Given the description of an element on the screen output the (x, y) to click on. 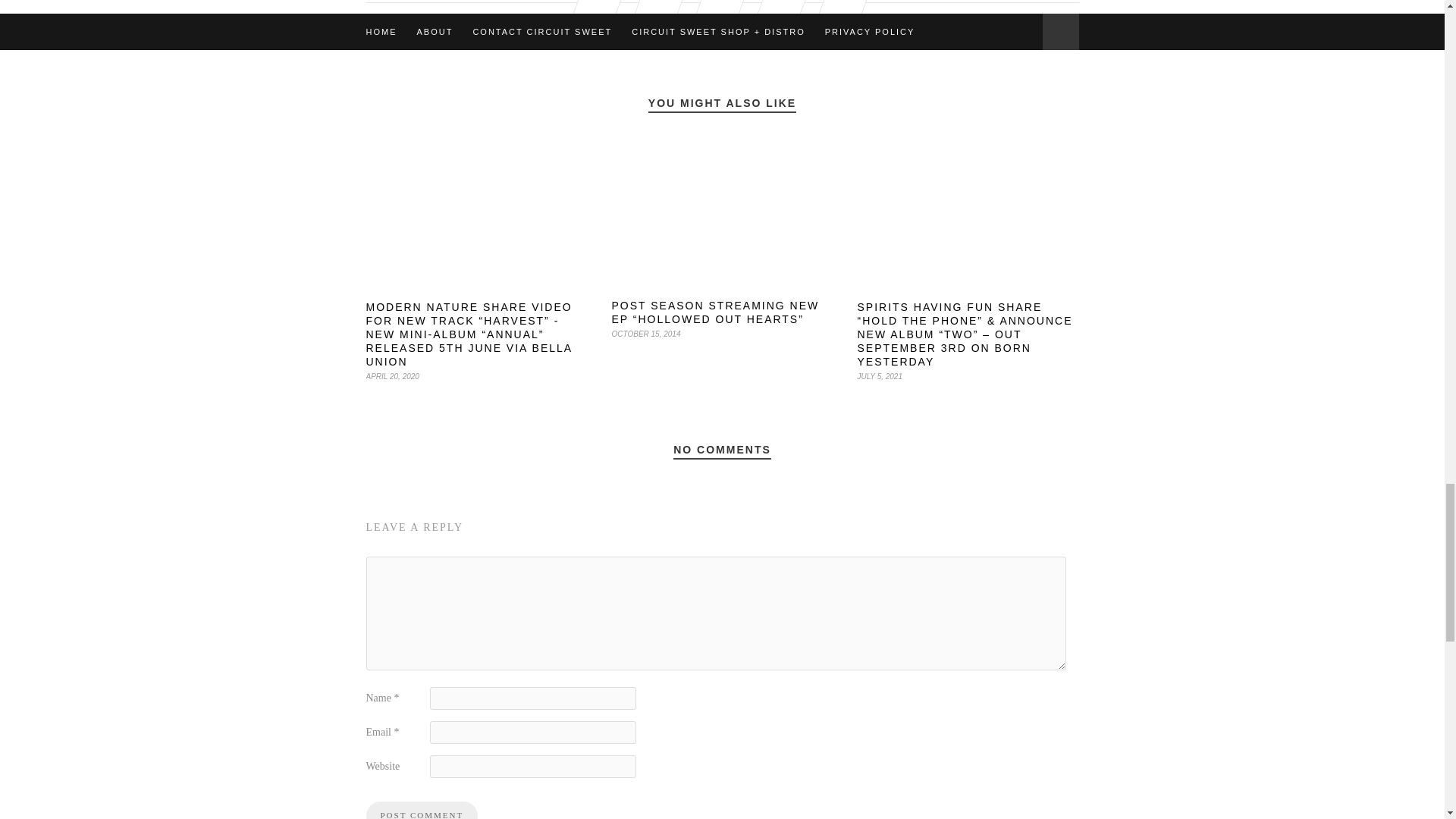
Post Comment (421, 810)
Post Comment (421, 810)
